Given the description of an element on the screen output the (x, y) to click on. 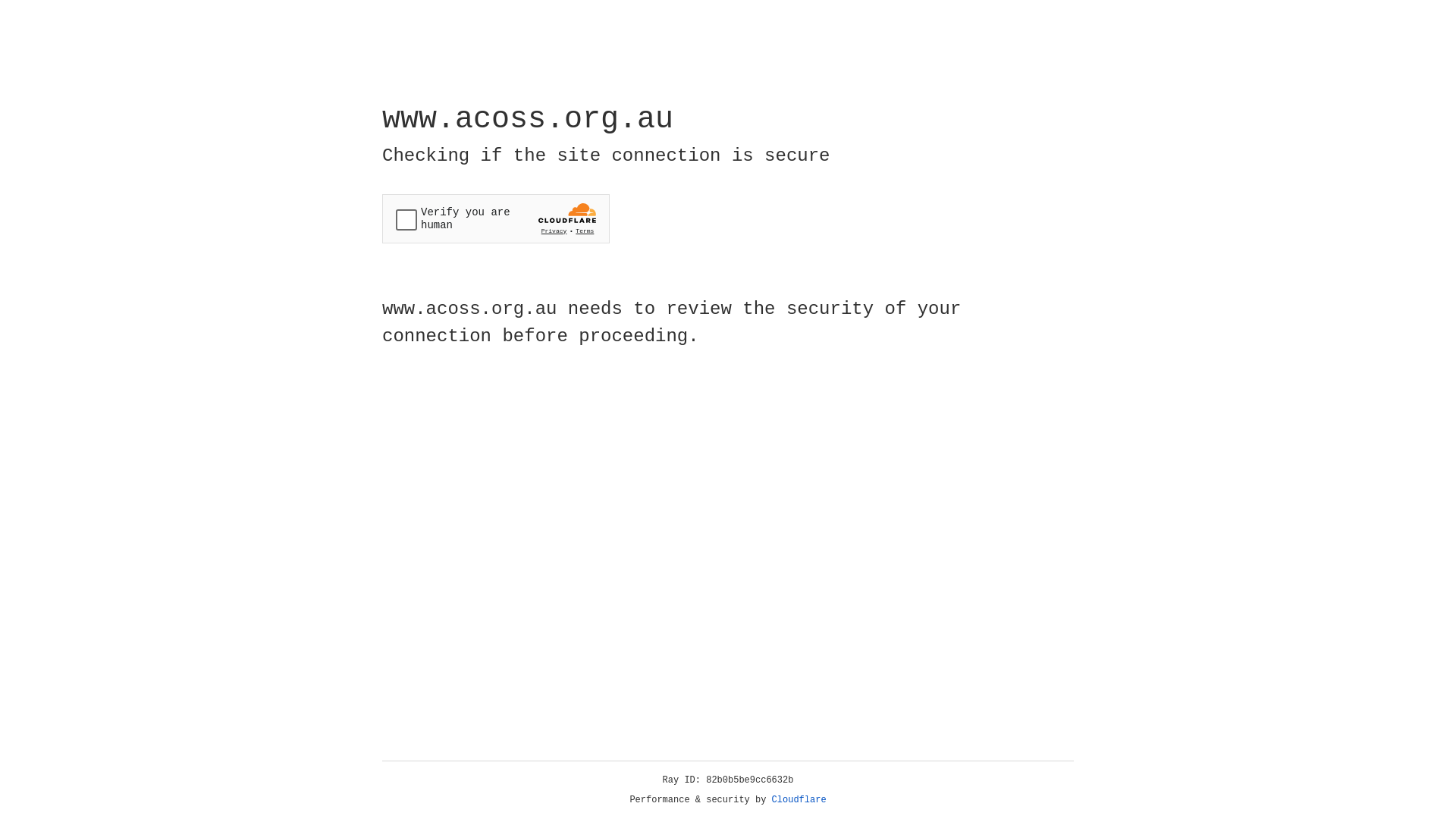
Cloudflare Element type: text (798, 799)
Widget containing a Cloudflare security challenge Element type: hover (495, 218)
